Given the description of an element on the screen output the (x, y) to click on. 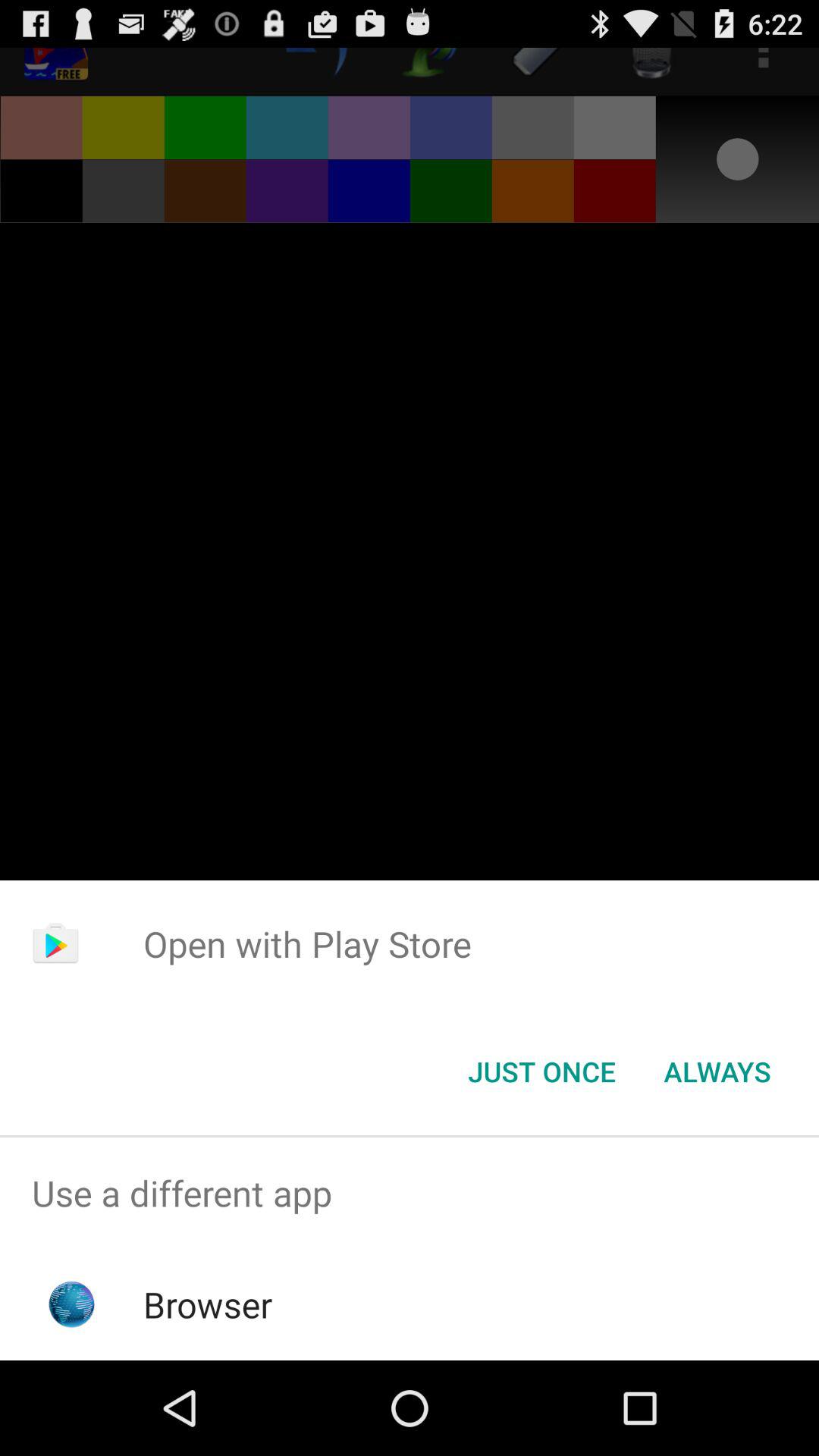
jump to always icon (717, 1071)
